Given the description of an element on the screen output the (x, y) to click on. 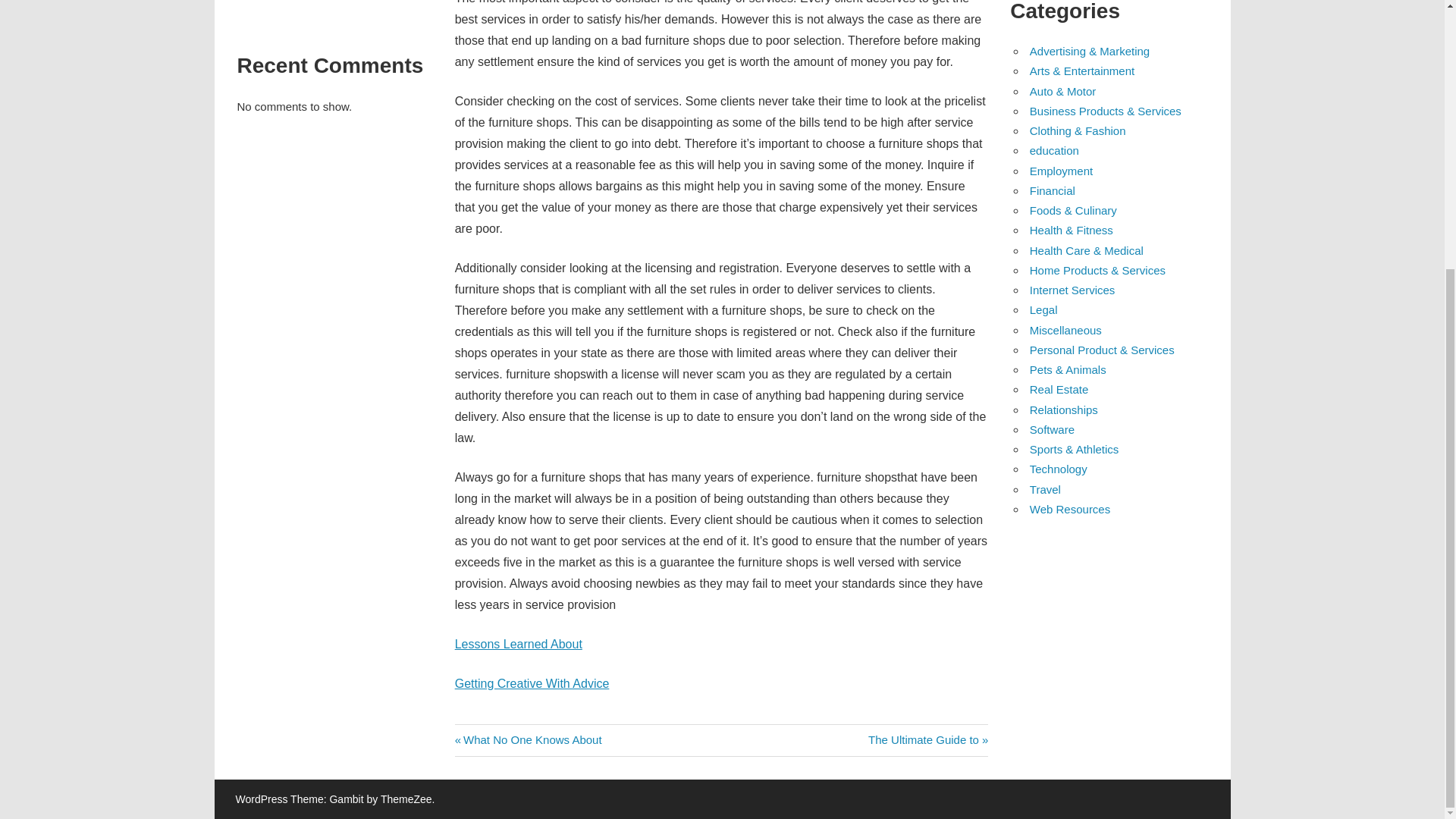
Miscellaneous (1065, 329)
Lessons Learned About (528, 739)
Employment (518, 644)
Getting Creative With Advice (1061, 170)
education (532, 683)
Legal (1053, 150)
Internet Services (927, 739)
Financial (1043, 309)
